Given the description of an element on the screen output the (x, y) to click on. 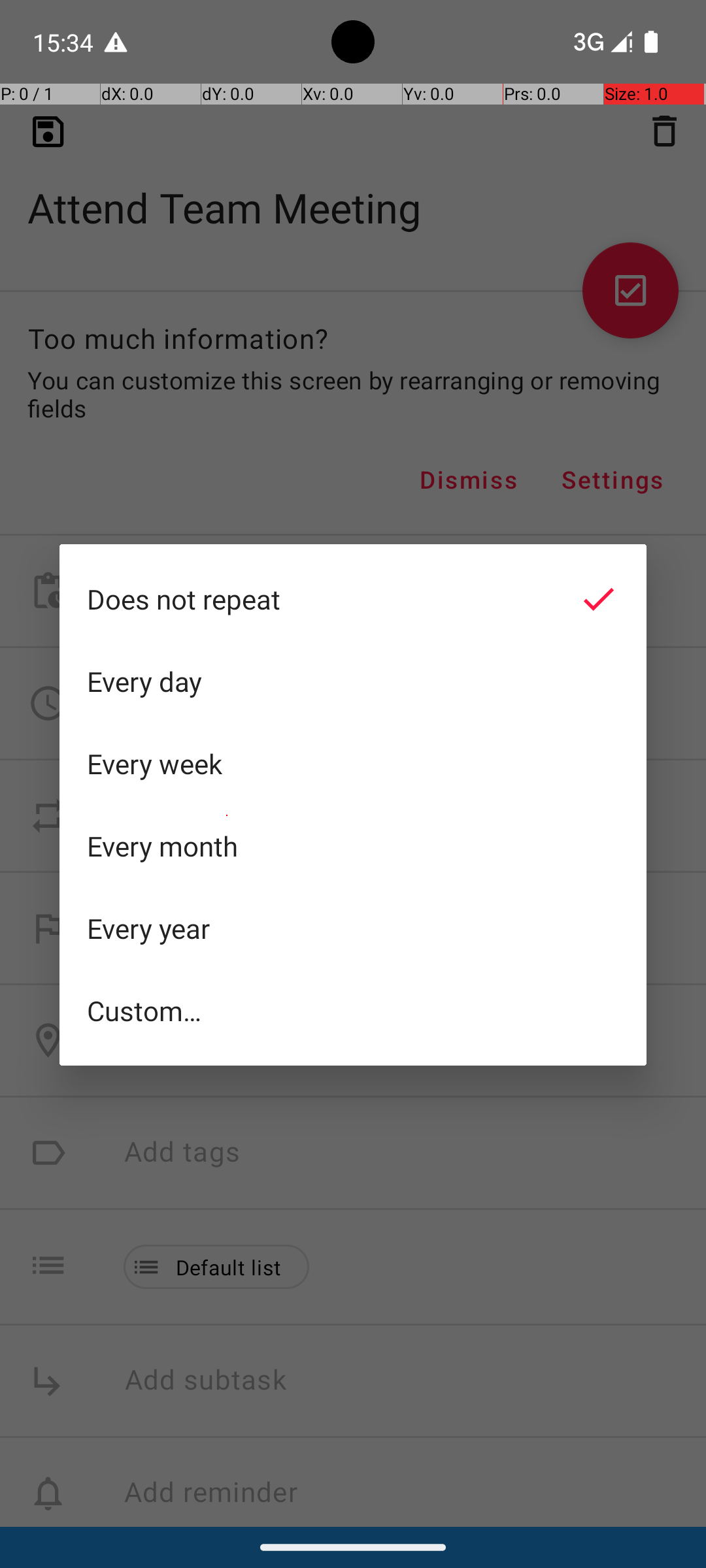
Every day Element type: android.widget.CheckedTextView (352, 681)
Every week Element type: android.widget.CheckedTextView (352, 763)
Every month Element type: android.widget.CheckedTextView (352, 845)
Every year Element type: android.widget.CheckedTextView (352, 928)
Custom… Element type: android.widget.CheckedTextView (352, 1010)
